Given the description of an element on the screen output the (x, y) to click on. 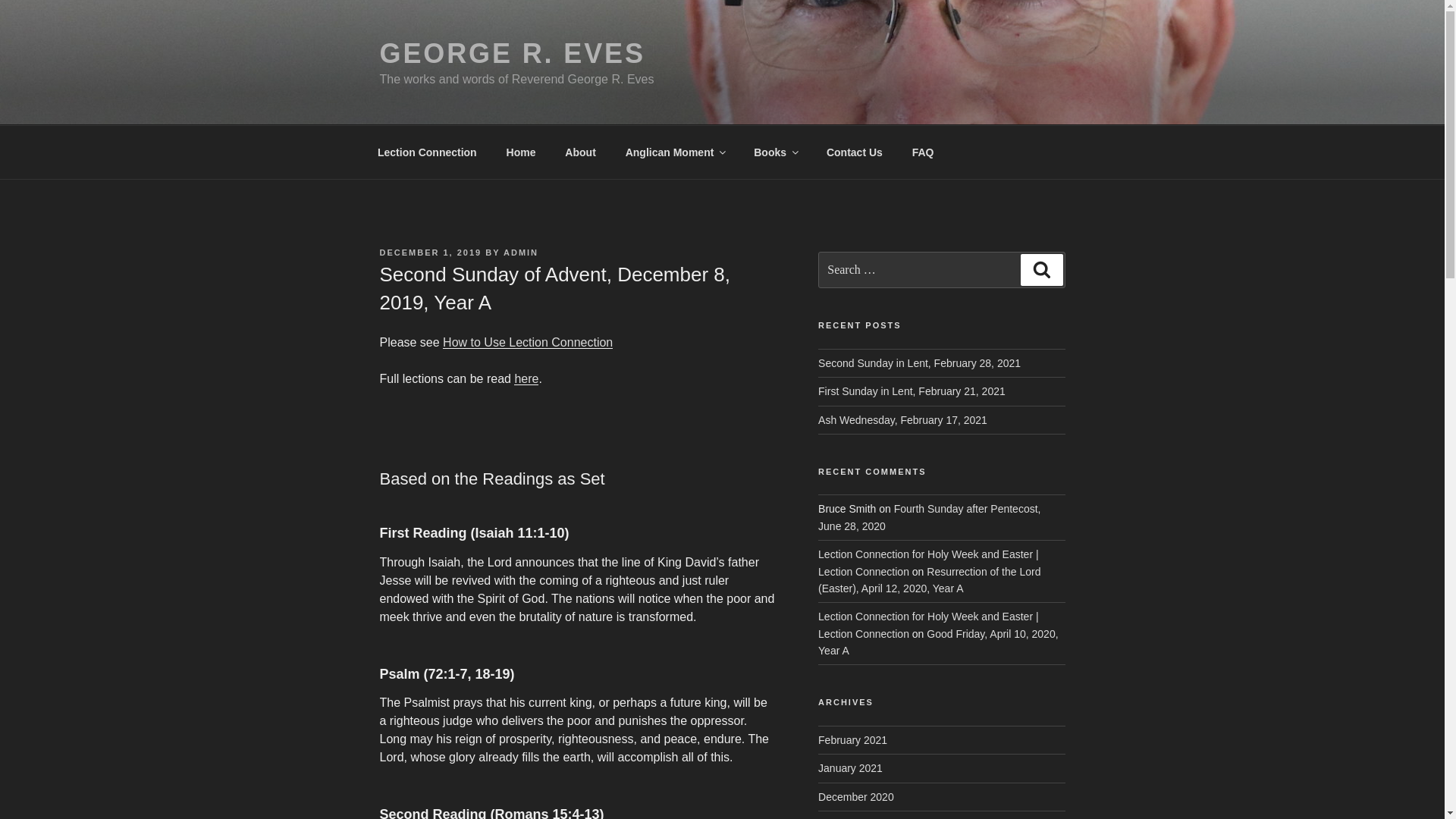
GEORGE R. EVES (511, 52)
Home (520, 151)
Search (1041, 269)
Anglican Moment (674, 151)
Lection Connection (426, 151)
Ash Wednesday, February 17, 2021 (902, 419)
Books (775, 151)
Second Sunday in Lent, February 28, 2021 (919, 363)
About (579, 151)
Contact Us (853, 151)
FAQ (922, 151)
DECEMBER 1, 2019 (429, 252)
ADMIN (520, 252)
First Sunday in Lent, February 21, 2021 (912, 390)
